Given the description of an element on the screen output the (x, y) to click on. 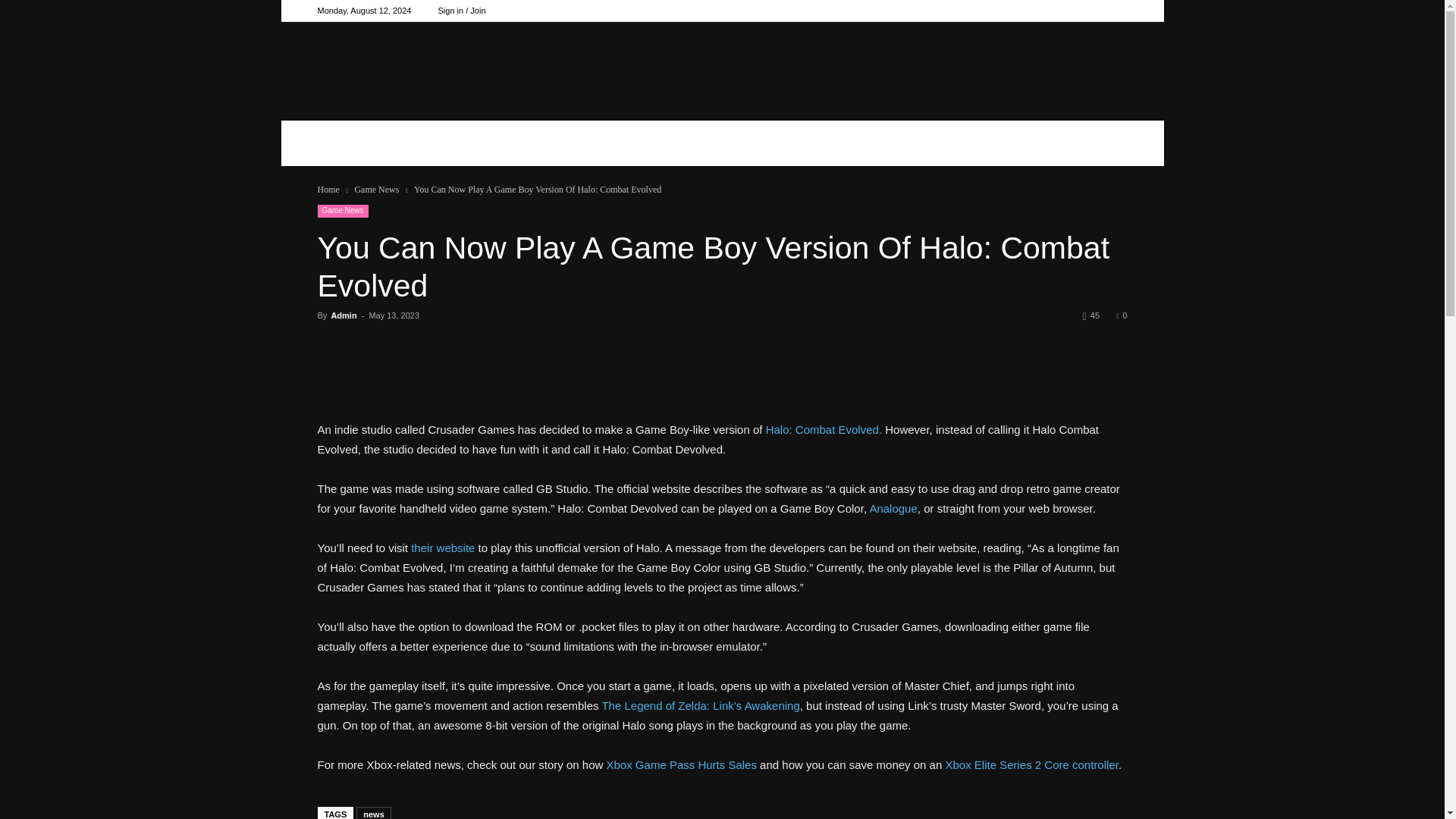
HOME (464, 143)
Facebook (1090, 10)
NEWS (783, 143)
Instagram (1114, 10)
CONSOLES (674, 143)
GAMES (558, 143)
